Given the description of an element on the screen output the (x, y) to click on. 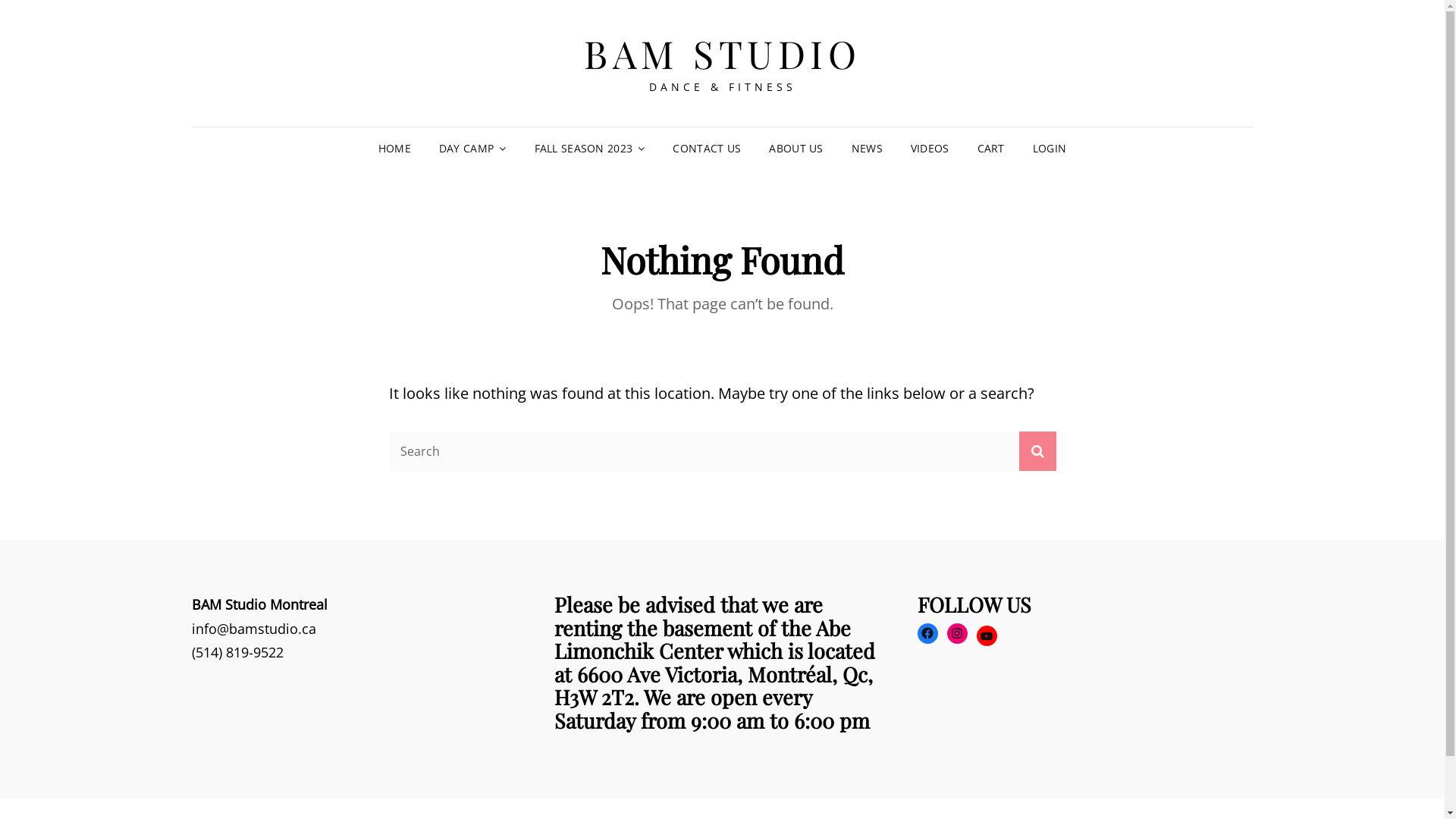
CART Element type: text (990, 148)
Facebook Element type: text (927, 633)
DAY CAMP Element type: text (472, 148)
VIDEOS Element type: text (929, 148)
LOGIN Element type: text (1049, 148)
ABOUT US Element type: text (795, 148)
HOME Element type: text (394, 148)
Search Element type: text (1037, 450)
Instagram Element type: text (957, 633)
FALL SEASON 2023 Element type: text (589, 148)
NEWS Element type: text (866, 148)
BAM STUDIO Element type: text (721, 53)
YouTube Element type: text (986, 635)
CONTACT US Element type: text (706, 148)
